Given the description of an element on the screen output the (x, y) to click on. 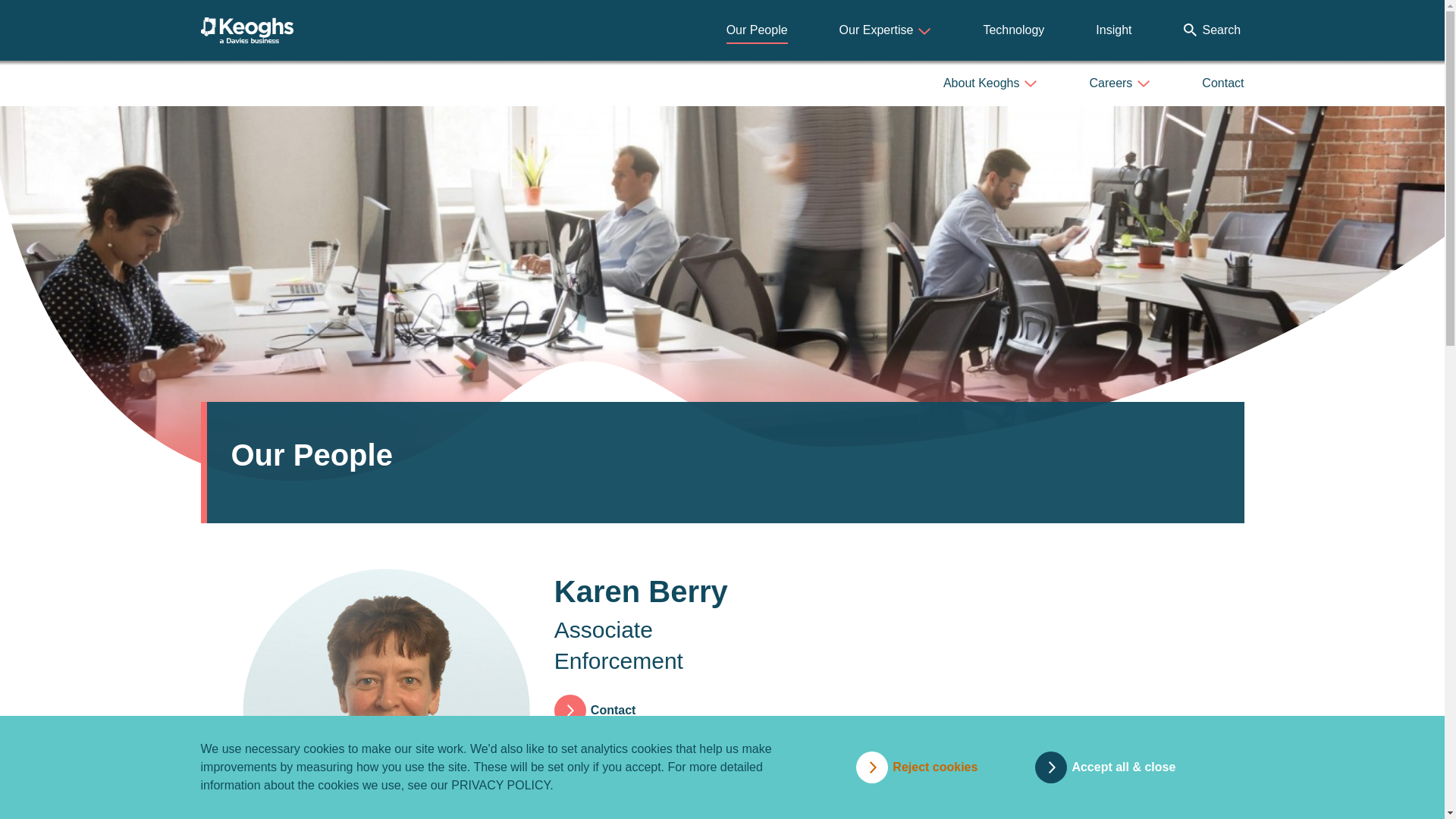
Technology (1012, 30)
Our Expertise (885, 30)
Our People (756, 30)
